Given the description of an element on the screen output the (x, y) to click on. 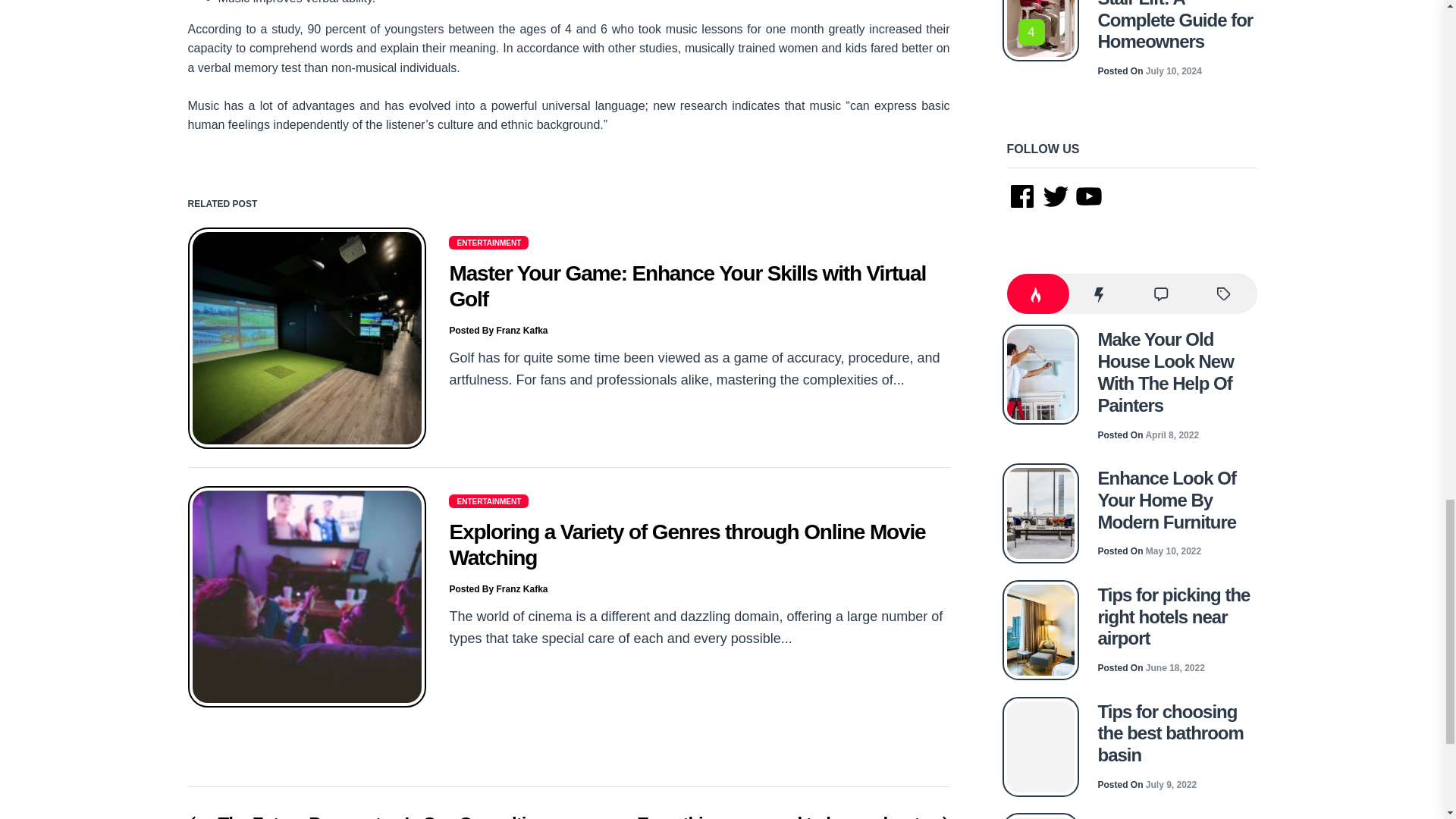
Posted By Franz Kafka (497, 330)
ENTERTAINMENT (488, 500)
Master Your Game: Enhance Your Skills with Virtual Golf (687, 286)
Exploring a Variety of Genres through Online Movie Watching (686, 544)
Everything you need to know about Singapore Dental Clinic (367, 816)
ENTERTAINMENT (766, 816)
Posted By Franz Kafka (488, 242)
